Given the description of an element on the screen output the (x, y) to click on. 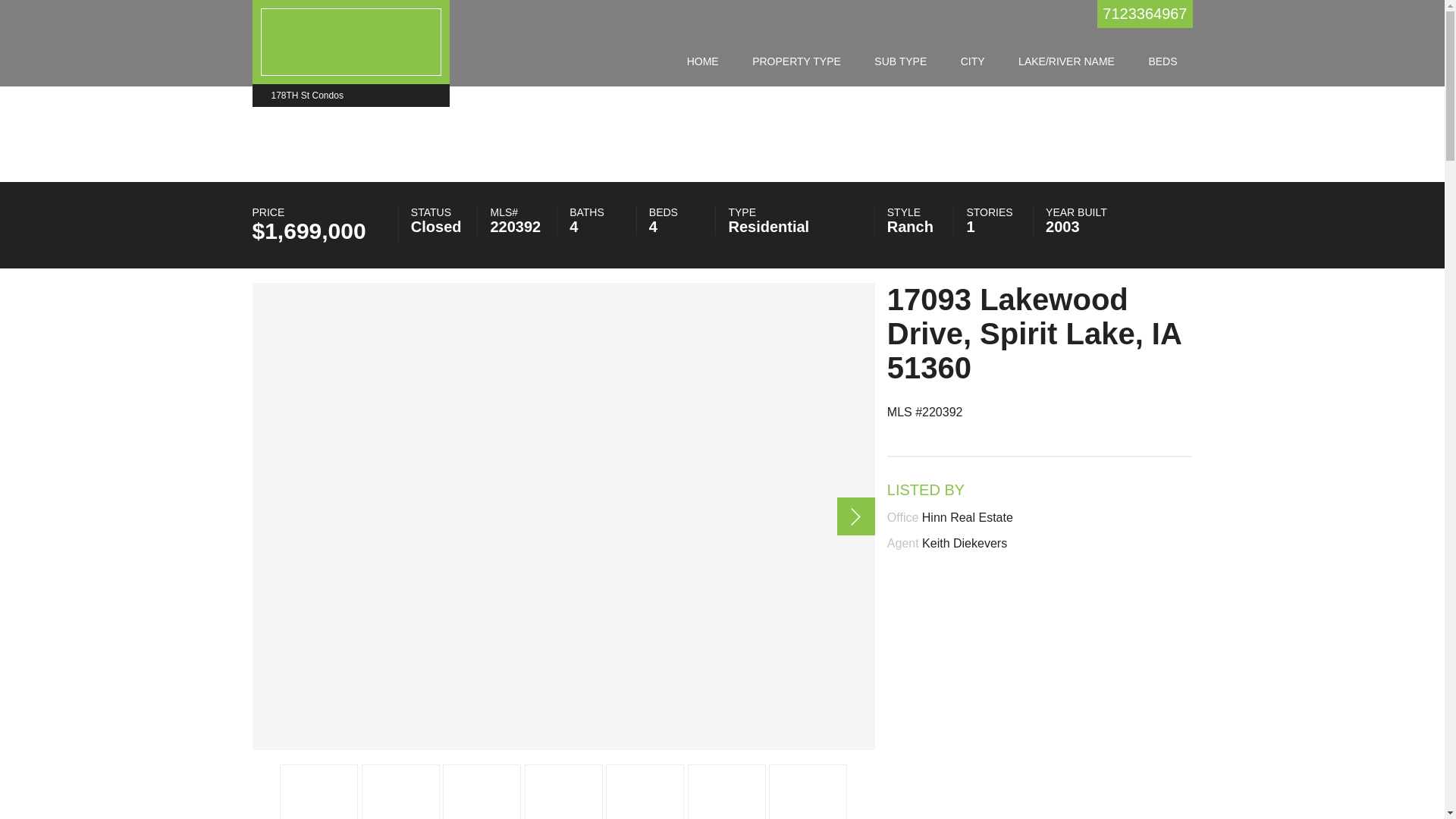
HOME Element type: text (702, 61)
Previous item in carousel (1 of 73) Element type: hover (251, 516)
178th St Condos - 178TH St Condos Element type: hover (350, 38)
Lakewood Element type: hover (562, 515)
Next item in carousel (2 of 73) Element type: hover (856, 516)
